Given the description of an element on the screen output the (x, y) to click on. 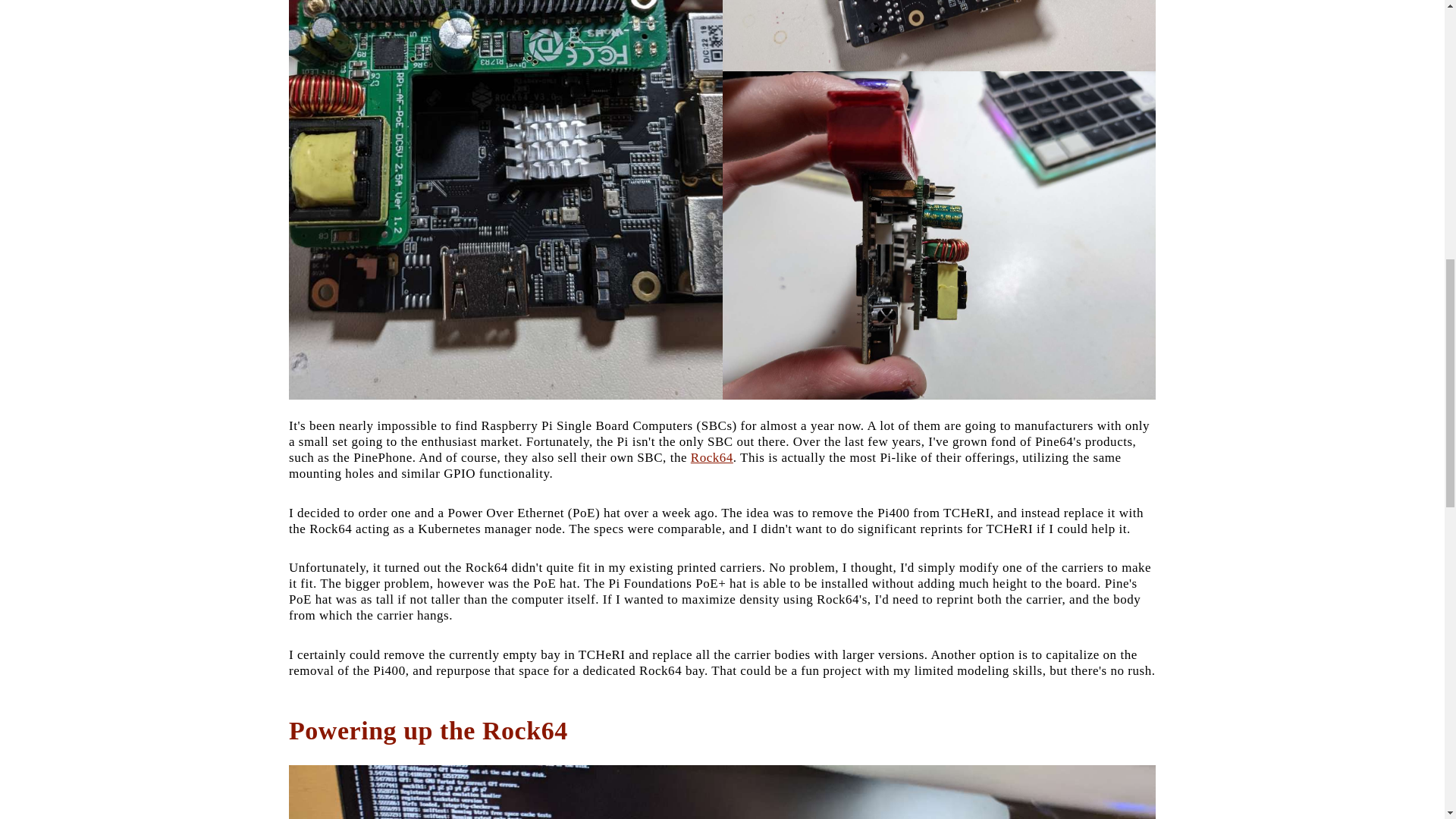
Rock64 (711, 457)
Powering up the Rock64 (427, 730)
